Given the description of an element on the screen output the (x, y) to click on. 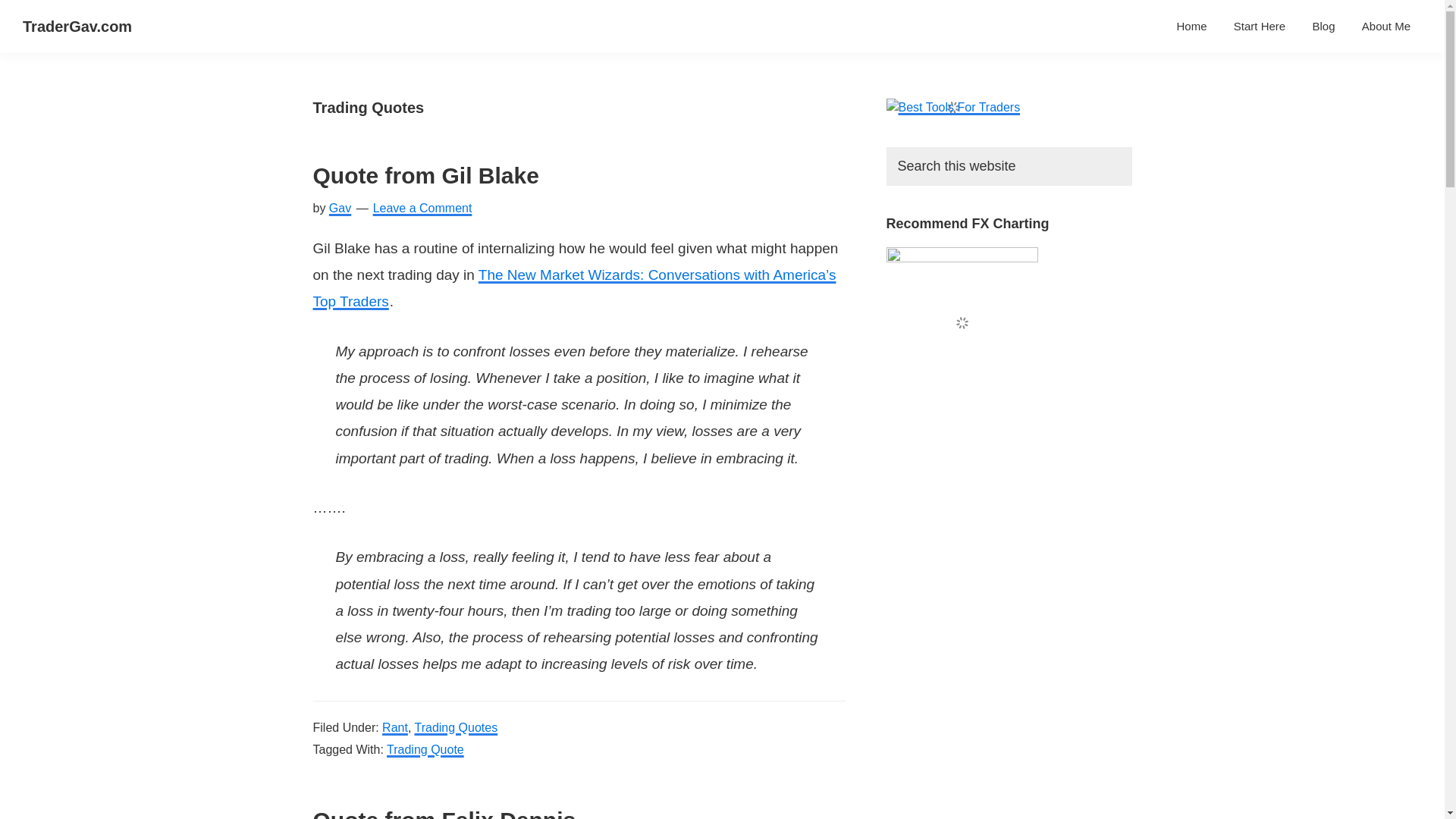
Trading Quotes (455, 727)
Start Here (1260, 25)
Rant (394, 727)
Home (1192, 25)
Blog (1322, 25)
TraderGav.com (77, 26)
About Me (1386, 25)
Quote from Gil Blake (425, 175)
